Given the description of an element on the screen output the (x, y) to click on. 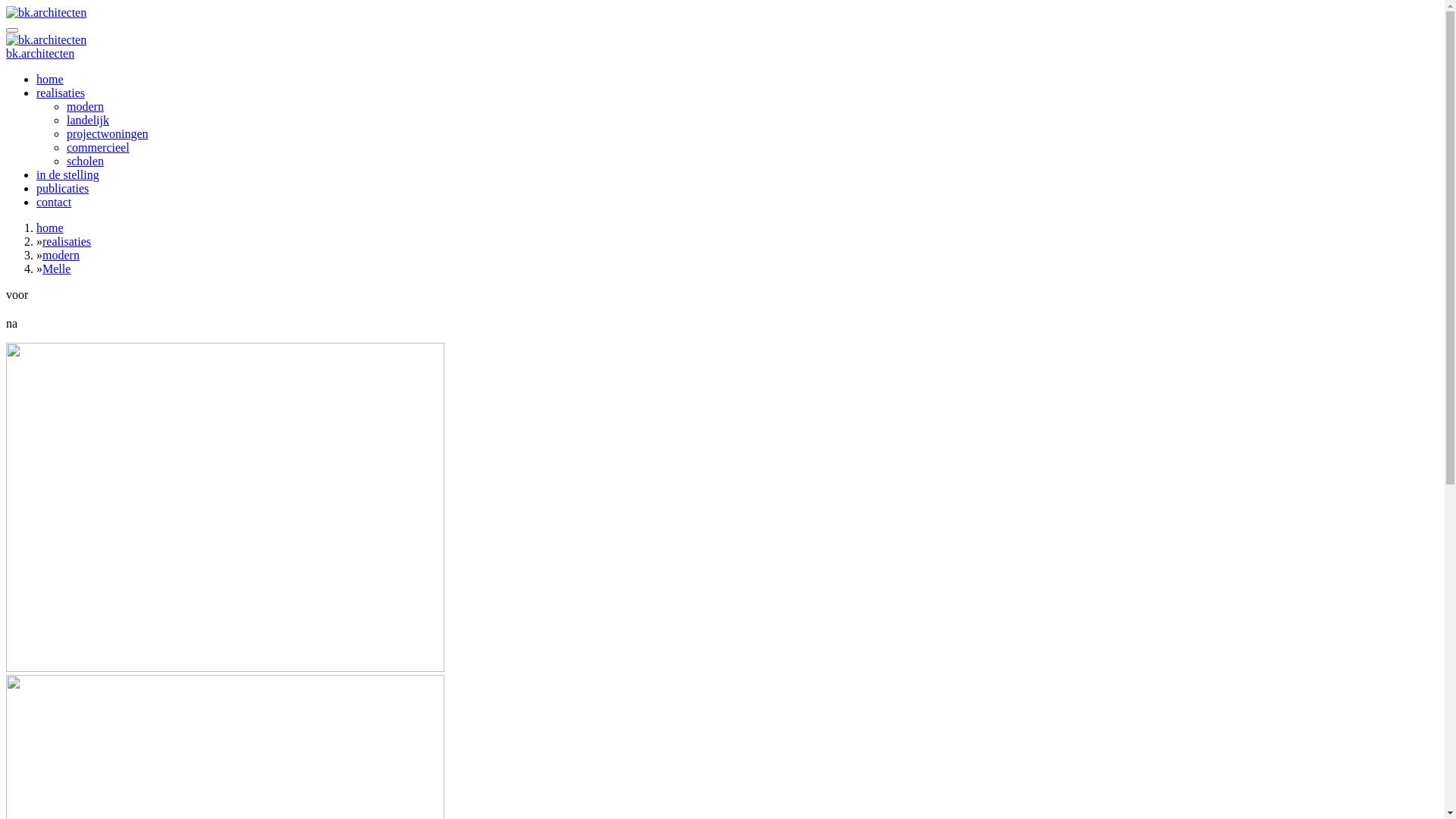
projectwoningen Element type: text (107, 133)
scholen Element type: text (84, 160)
Melle Element type: text (56, 268)
bk.architecten Element type: hover (46, 12)
realisaties Element type: text (60, 92)
in de stelling Element type: text (67, 174)
contact Element type: text (53, 201)
modern Element type: text (84, 106)
home Element type: text (49, 78)
bk.architecten Element type: hover (46, 40)
landelijk Element type: text (87, 119)
realisaties Element type: text (66, 241)
commercieel Element type: text (97, 147)
modern Element type: text (60, 254)
bk.architecten Element type: text (40, 53)
home Element type: text (49, 227)
publicaties Element type: text (62, 188)
